Given the description of an element on the screen output the (x, y) to click on. 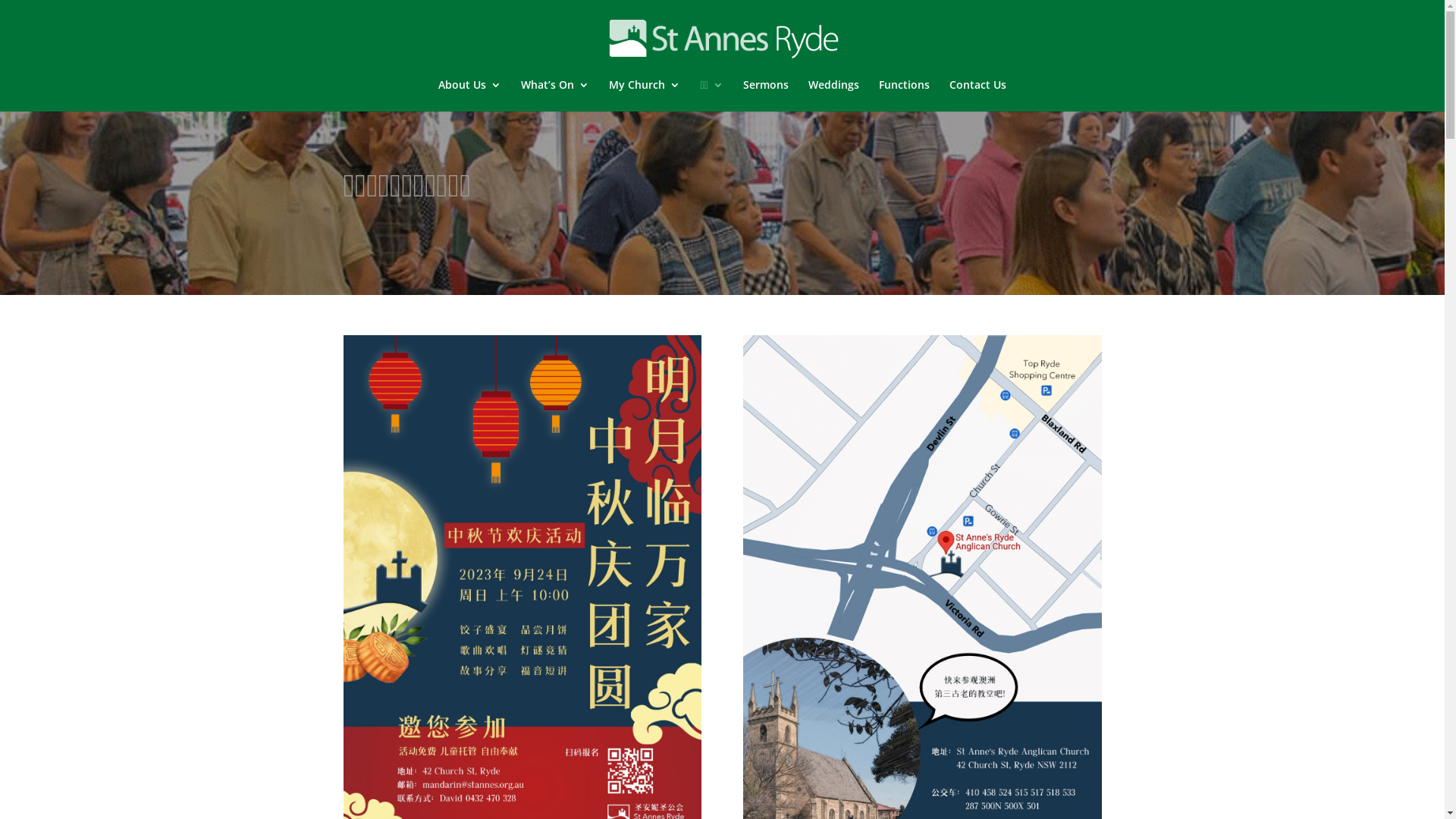
About Us Element type: text (469, 95)
My Church Element type: text (644, 95)
Sermons Element type: text (765, 95)
Weddings Element type: text (833, 95)
Contact Us Element type: text (977, 95)
Functions Element type: text (903, 95)
